Given the description of an element on the screen output the (x, y) to click on. 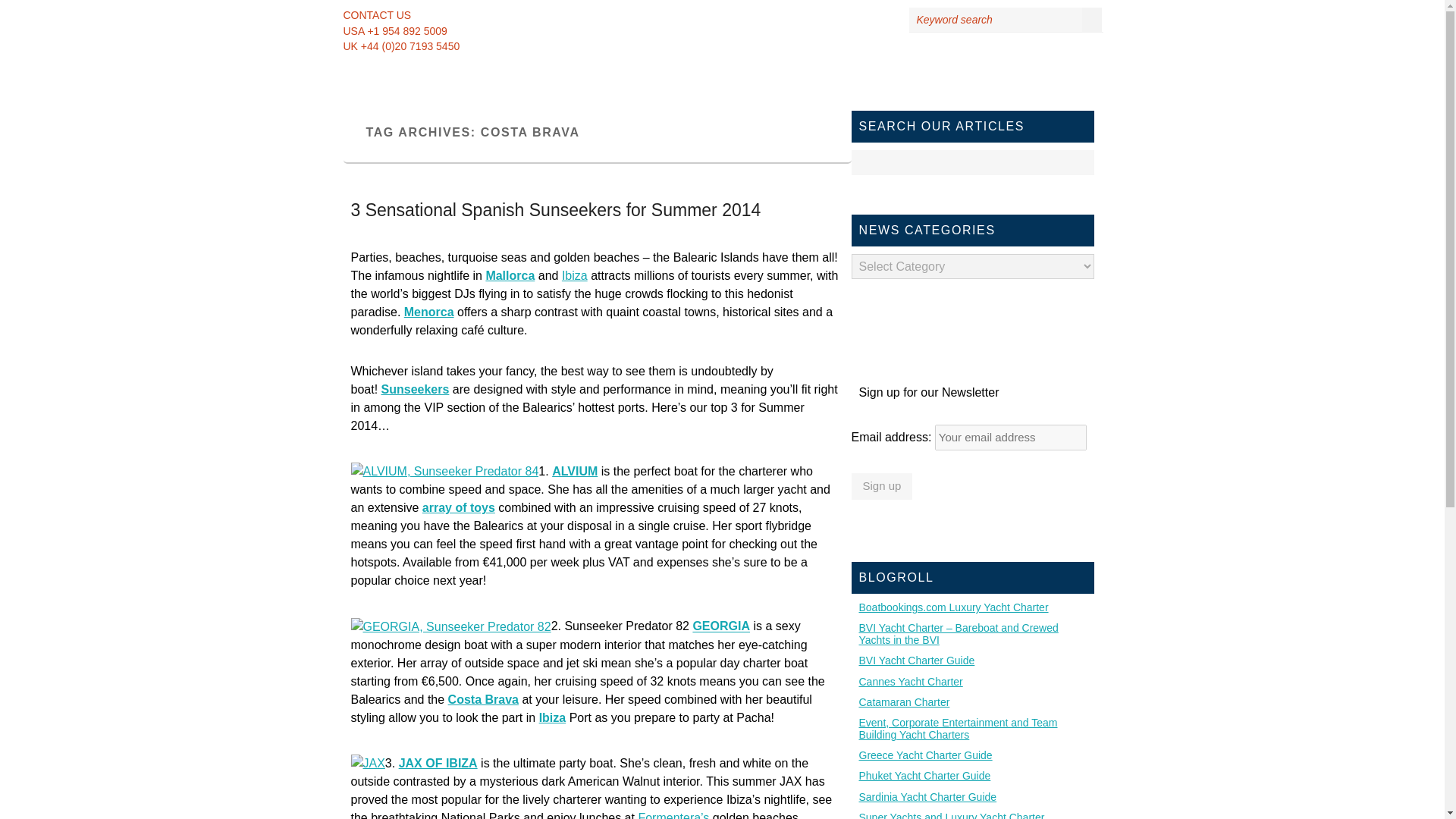
JAX OF IBIZA (437, 762)
Sign up (881, 485)
Mallorca (509, 275)
ALVIUM (573, 471)
CONTACT US (380, 15)
Ibiza Yacht Charter Guide (575, 275)
Ibiza (552, 717)
Mallorca Yacht Charter Guide (509, 275)
Charter a Yacht in Menorca (429, 311)
Search (1080, 162)
